Given the description of an element on the screen output the (x, y) to click on. 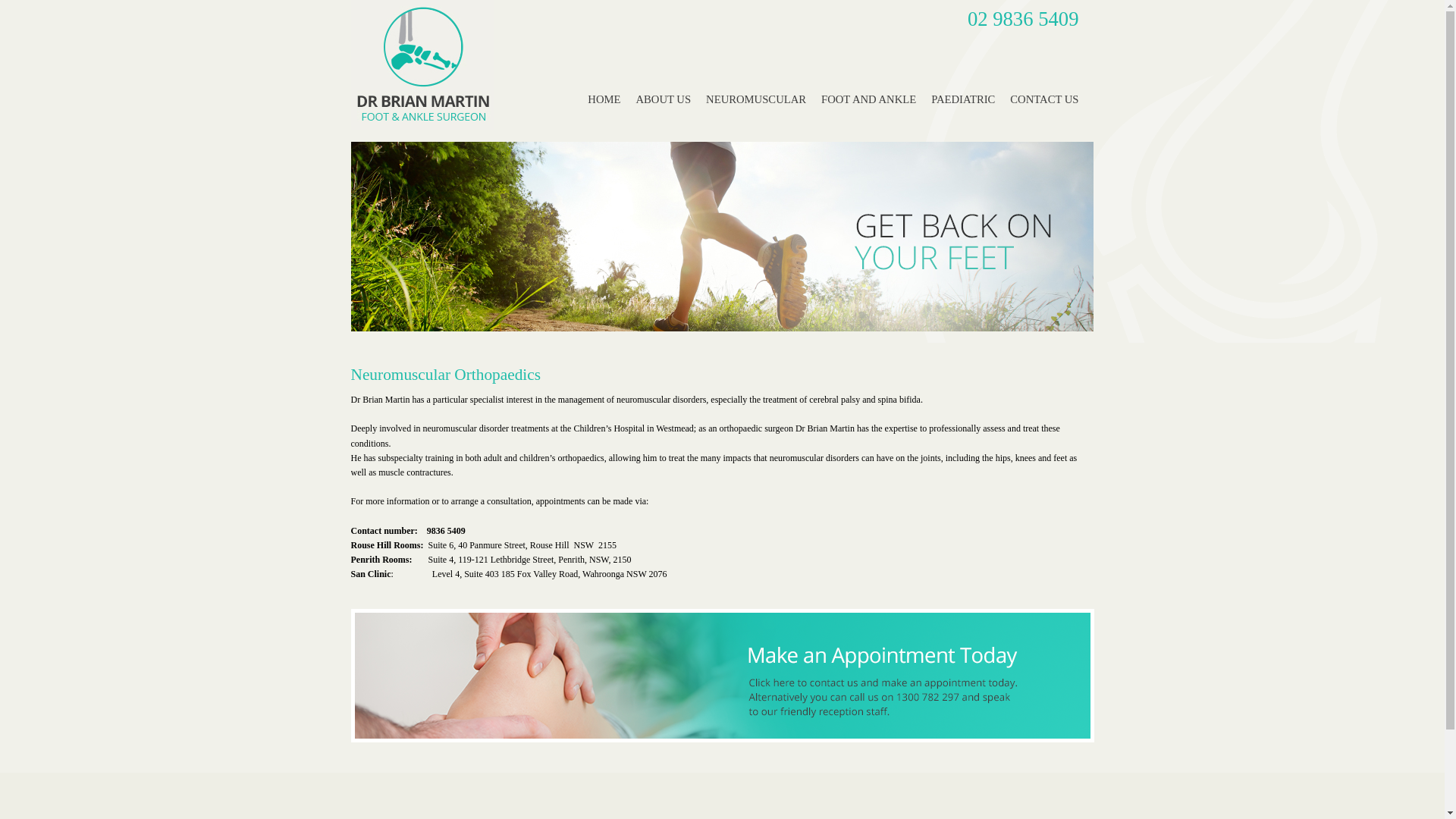
HOME Element type: text (603, 99)
CONTACT US Element type: text (1044, 99)
PAEDIATRIC Element type: text (962, 99)
ABOUT US Element type: text (662, 99)
FOOT AND ANKLE Element type: text (868, 99)
NEUROMUSCULAR Element type: text (756, 99)
